Given the description of an element on the screen output the (x, y) to click on. 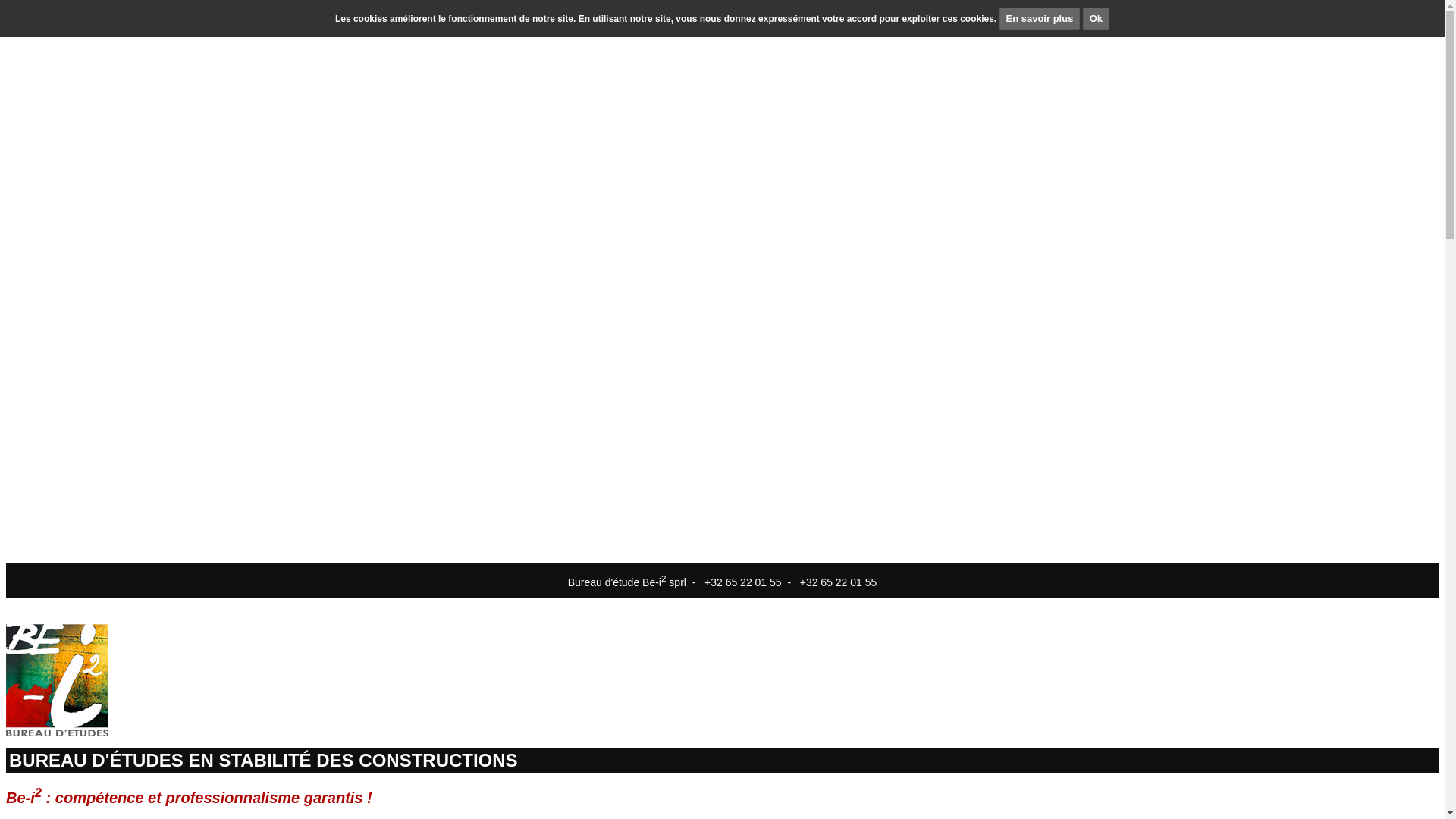
Be-i2 Element type: hover (722, 680)
En savoir plus Element type: text (1039, 18)
Ok Element type: text (1095, 18)
